Given the description of an element on the screen output the (x, y) to click on. 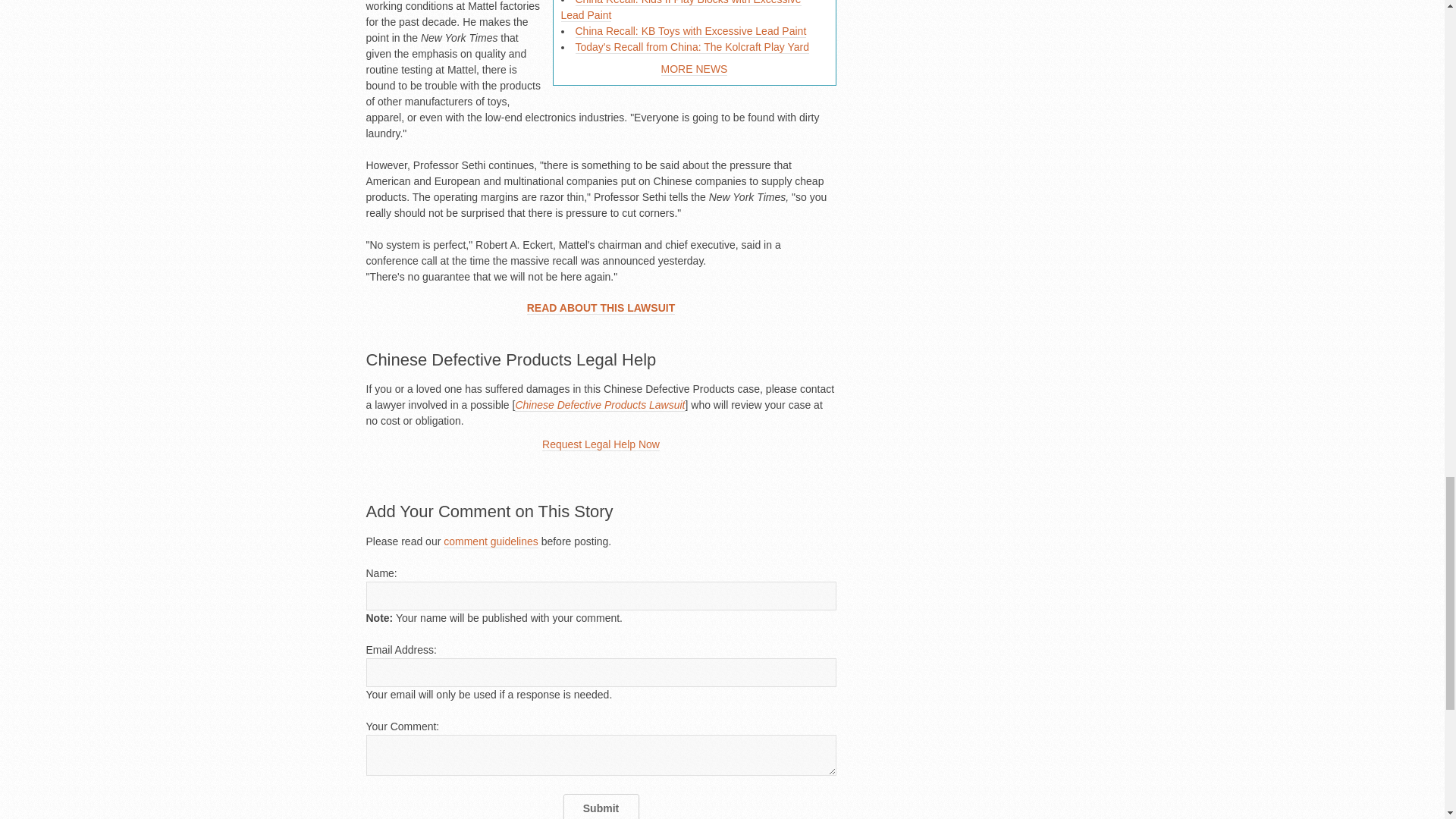
MORE NEWS (694, 69)
Submit (600, 806)
China Recall: KB Toys with Excessive Lead Paint (690, 31)
Chinese Defective Products Lawsuit (599, 404)
Submit (600, 806)
READ ABOUT THIS LAWSUIT (601, 308)
Today's Recall from China: The Kolcraft Play Yard (691, 47)
Request Legal Help Now (600, 444)
China Recall: Kids II Play Blocks with Excessive Lead Paint (681, 11)
comment guidelines (491, 541)
